Given the description of an element on the screen output the (x, y) to click on. 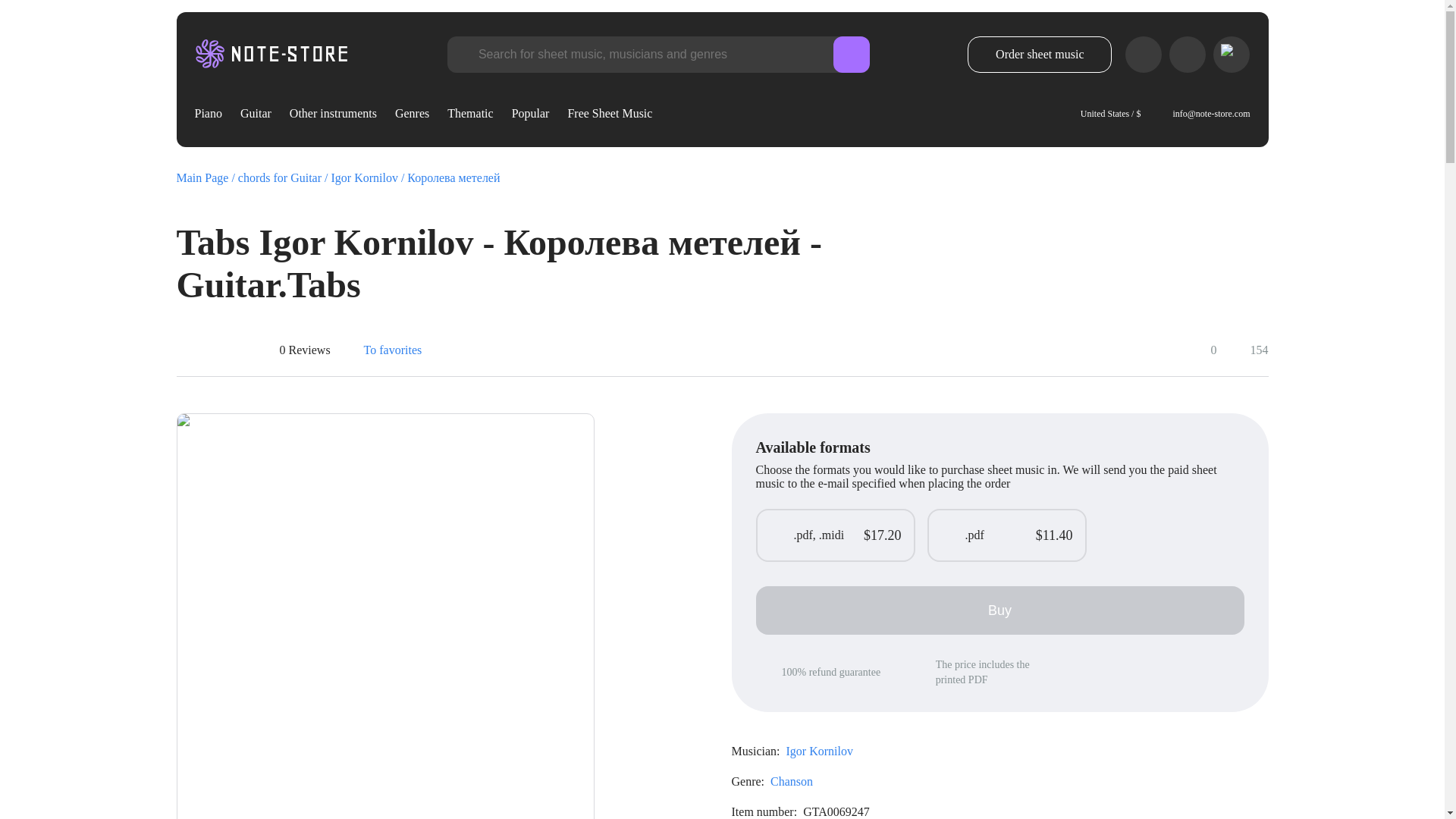
Order sheet music (1040, 54)
Igor Kornilov (818, 750)
Free Sheet Music (609, 113)
Genres (411, 113)
Guitar (255, 113)
chords for Guitar (284, 177)
Main Page (206, 177)
Popular (531, 113)
Igor Kornilov (368, 177)
Other instruments (333, 113)
Thematic (469, 113)
Chanson (791, 780)
search (851, 56)
Piano (207, 113)
Buy (999, 610)
